Given the description of an element on the screen output the (x, y) to click on. 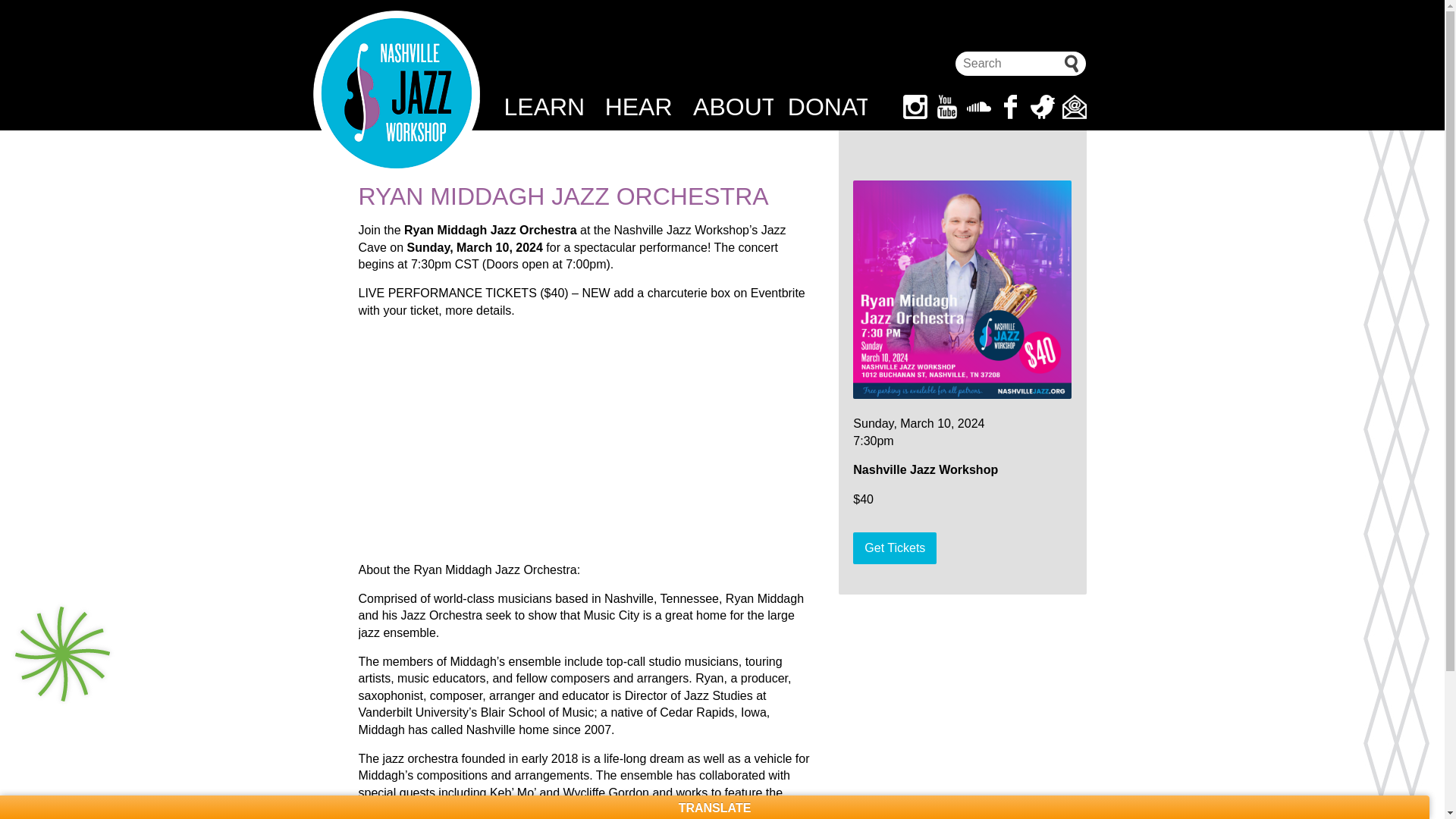
LEARN (543, 106)
DONATE (827, 106)
Nashville Jazz Workshop (396, 93)
Youtube (946, 106)
HEAR (638, 106)
Twitter (1041, 106)
ABOUT (733, 106)
Instagram (914, 106)
Facebook (1009, 106)
Soundcloud (978, 106)
